Given the description of an element on the screen output the (x, y) to click on. 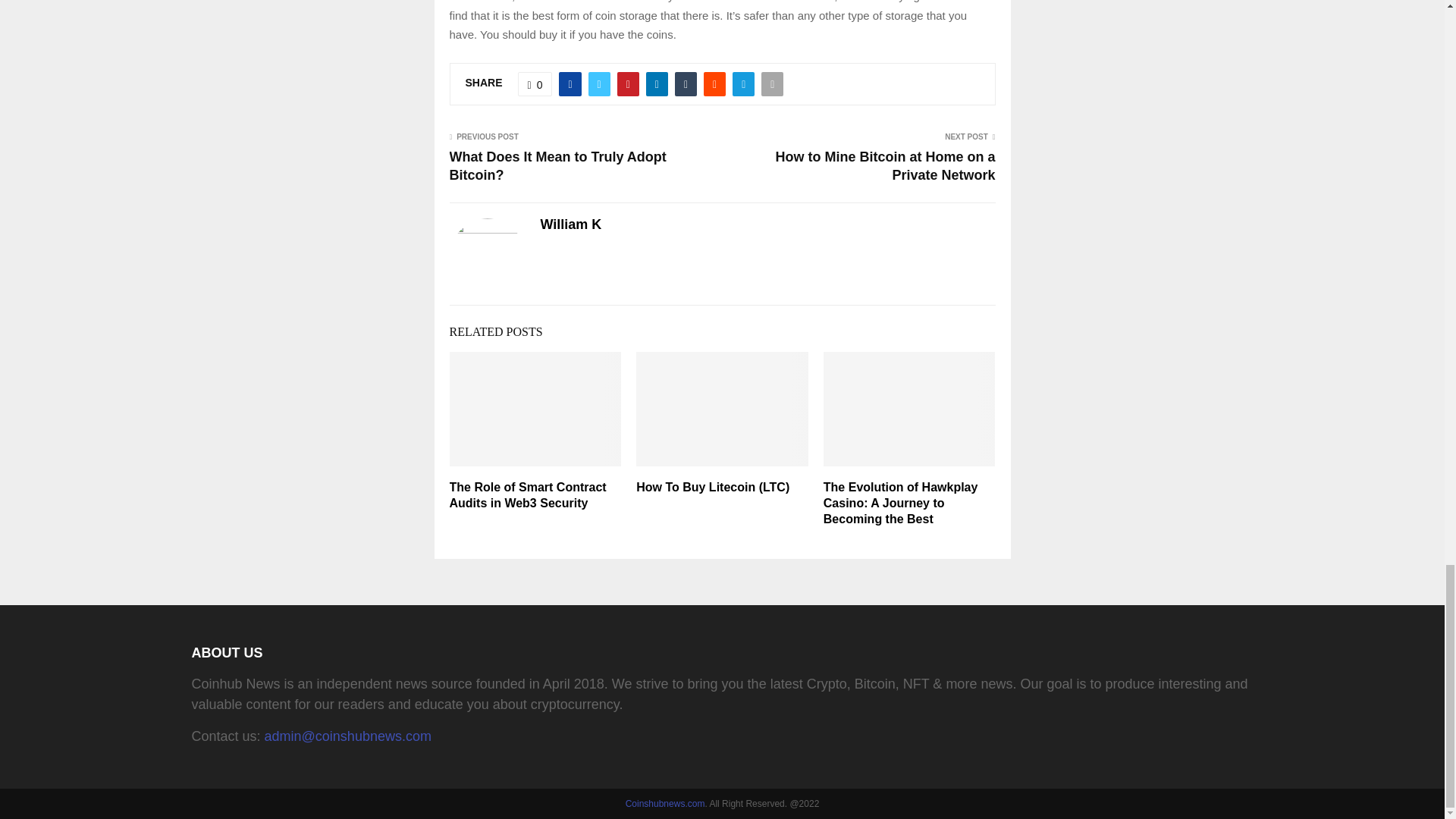
Like (535, 84)
